Given the description of an element on the screen output the (x, y) to click on. 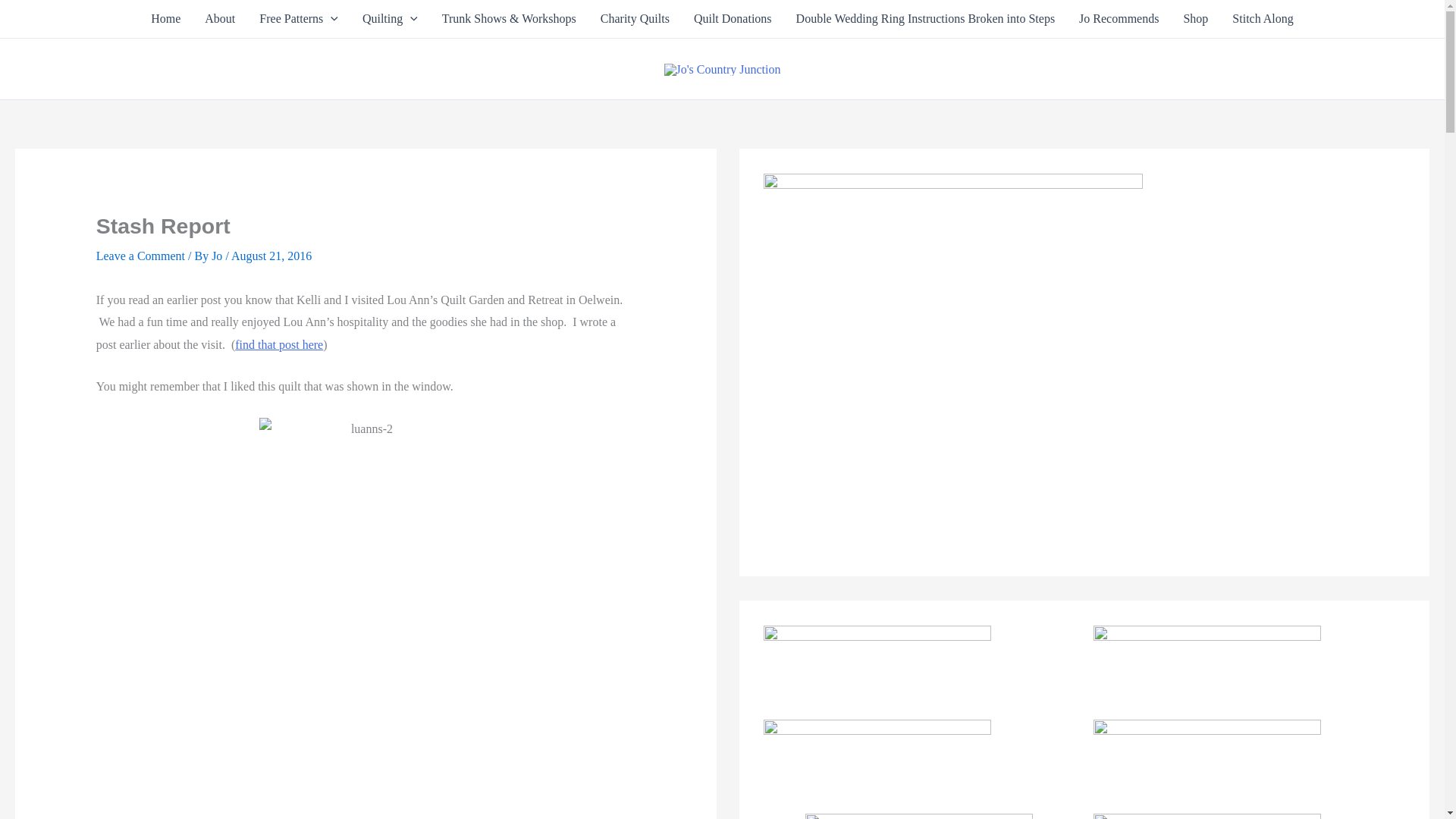
Quilting (389, 18)
Home (165, 18)
Charity Quilts (634, 18)
View all posts by Jo (218, 255)
About (219, 18)
Free Patterns (298, 18)
Quilt Donations (732, 18)
Quilts of 2012 (389, 18)
